Given the description of an element on the screen output the (x, y) to click on. 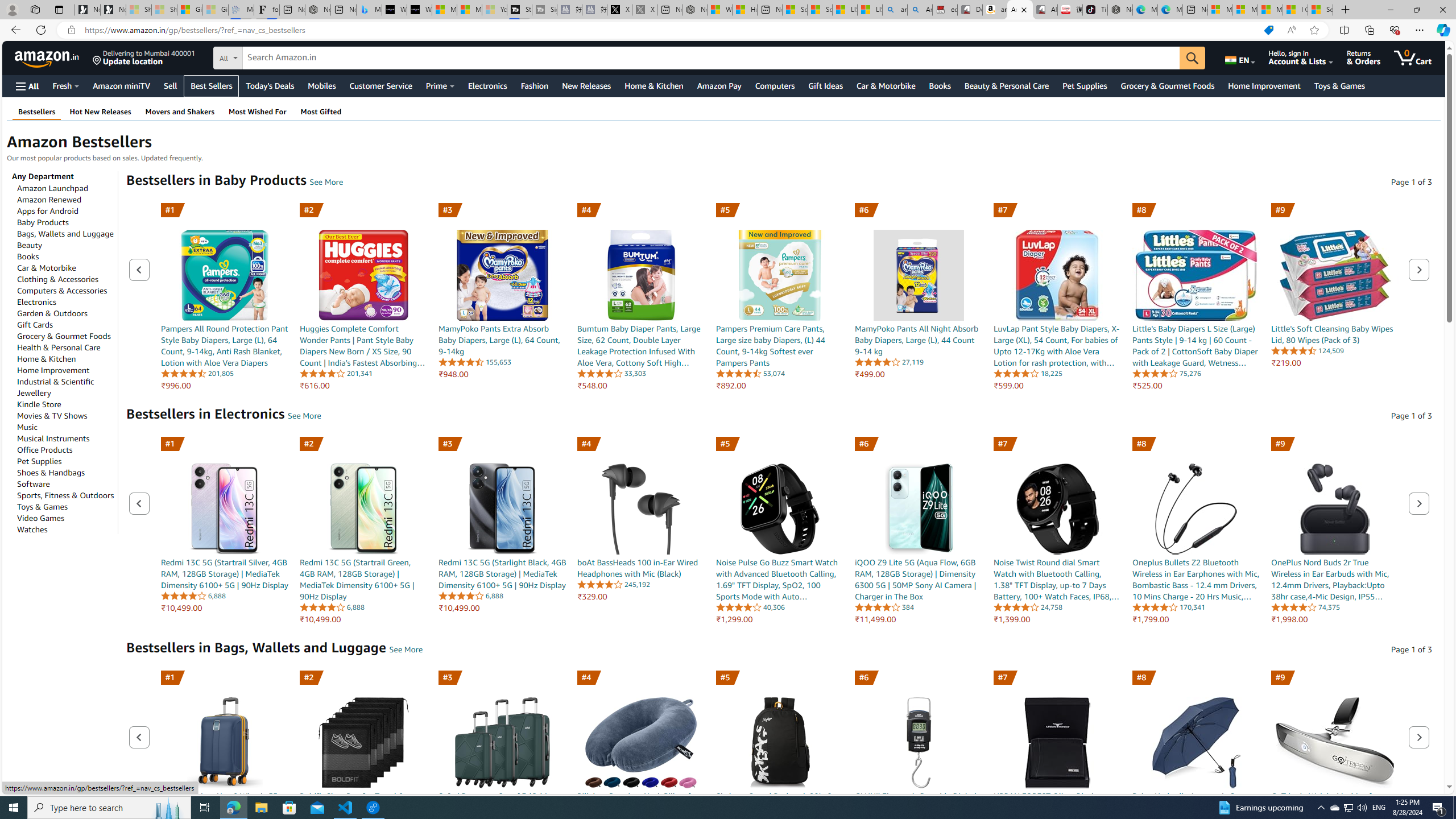
Skip to main content (48, 56)
Huge shark washes ashore at New York City beach | Watch (744, 9)
Bags, Wallets and Luggage (65, 233)
Jewellery (33, 393)
Amazon.in (47, 57)
boAt BassHeads 100 in-Ear Wired Headphones with Mic (Black) (640, 495)
